Given the description of an element on the screen output the (x, y) to click on. 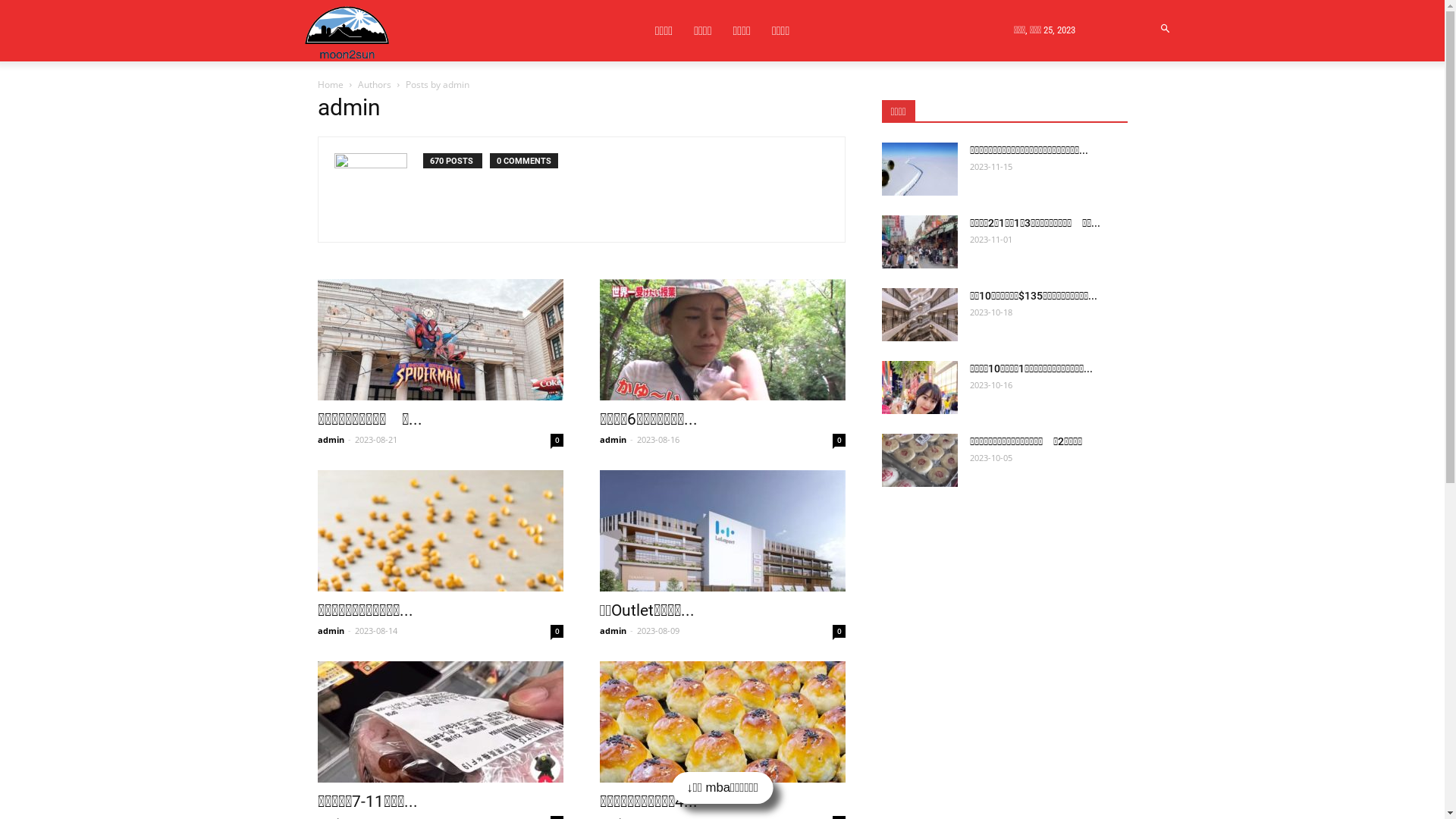
admin Element type: text (329, 630)
admin Element type: text (612, 630)
admin Element type: text (329, 439)
0 Element type: text (838, 630)
0 Element type: text (838, 439)
0 Element type: text (556, 630)
admin Element type: text (612, 439)
0 Element type: text (556, 439)
Home Element type: text (329, 84)
